Given the description of an element on the screen output the (x, y) to click on. 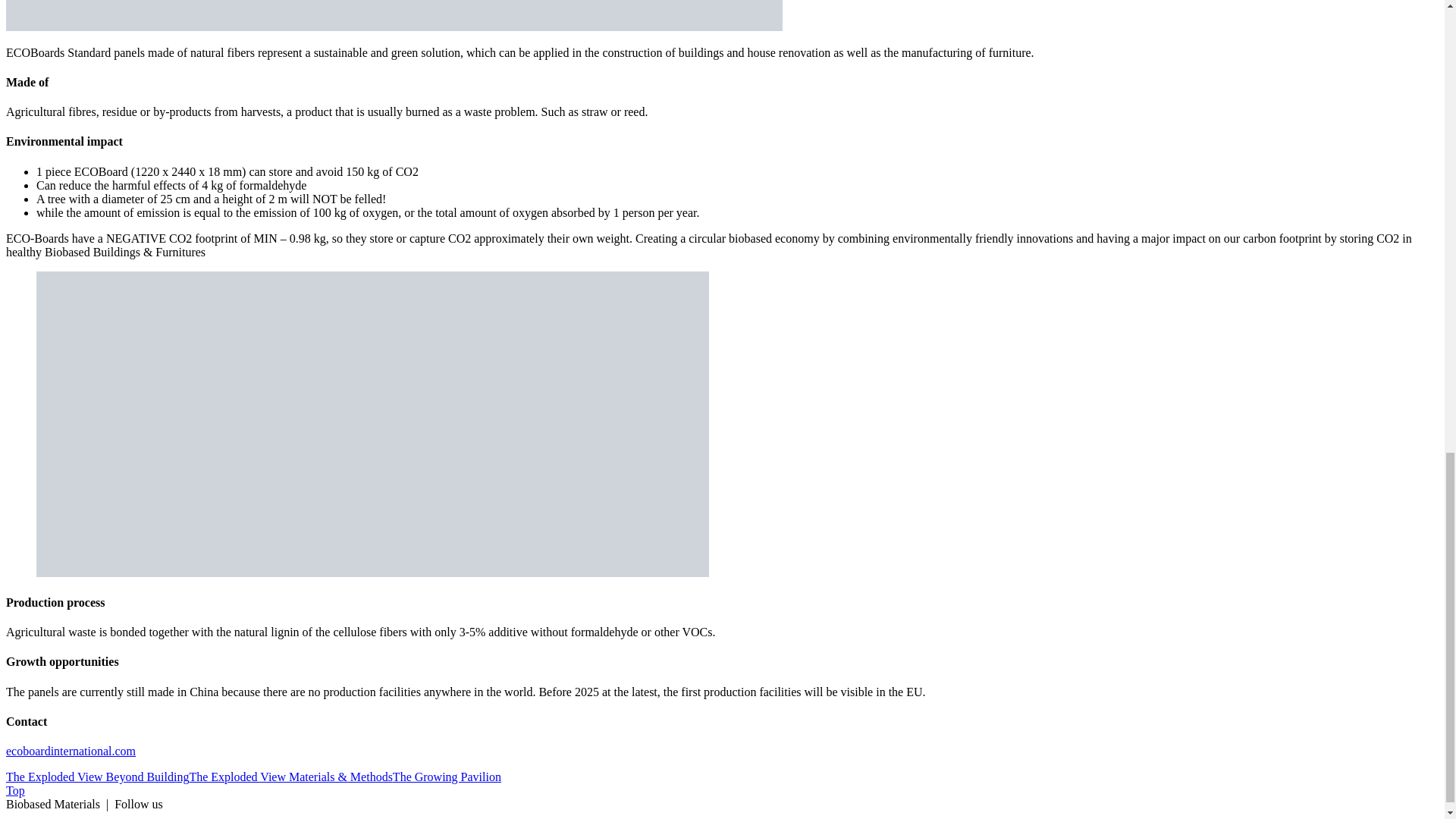
The Growing Pavilion (446, 776)
ecoboardinternational.com (70, 750)
The Exploded View Beyond Building (97, 776)
Top (14, 789)
